Given the description of an element on the screen output the (x, y) to click on. 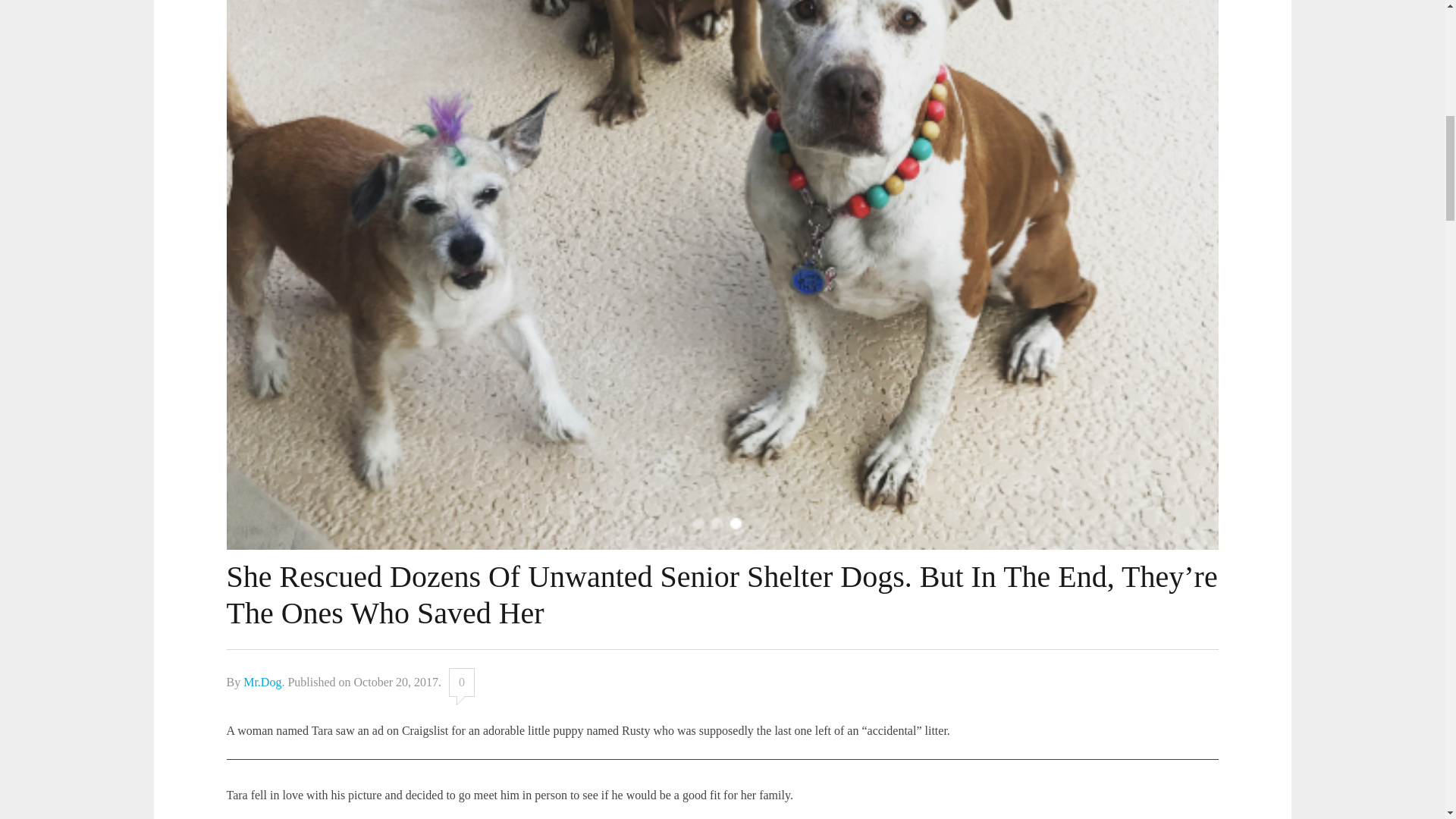
Mr.Dog (262, 681)
Posts by Mr.Dog (262, 681)
0 (461, 682)
